Given the description of an element on the screen output the (x, y) to click on. 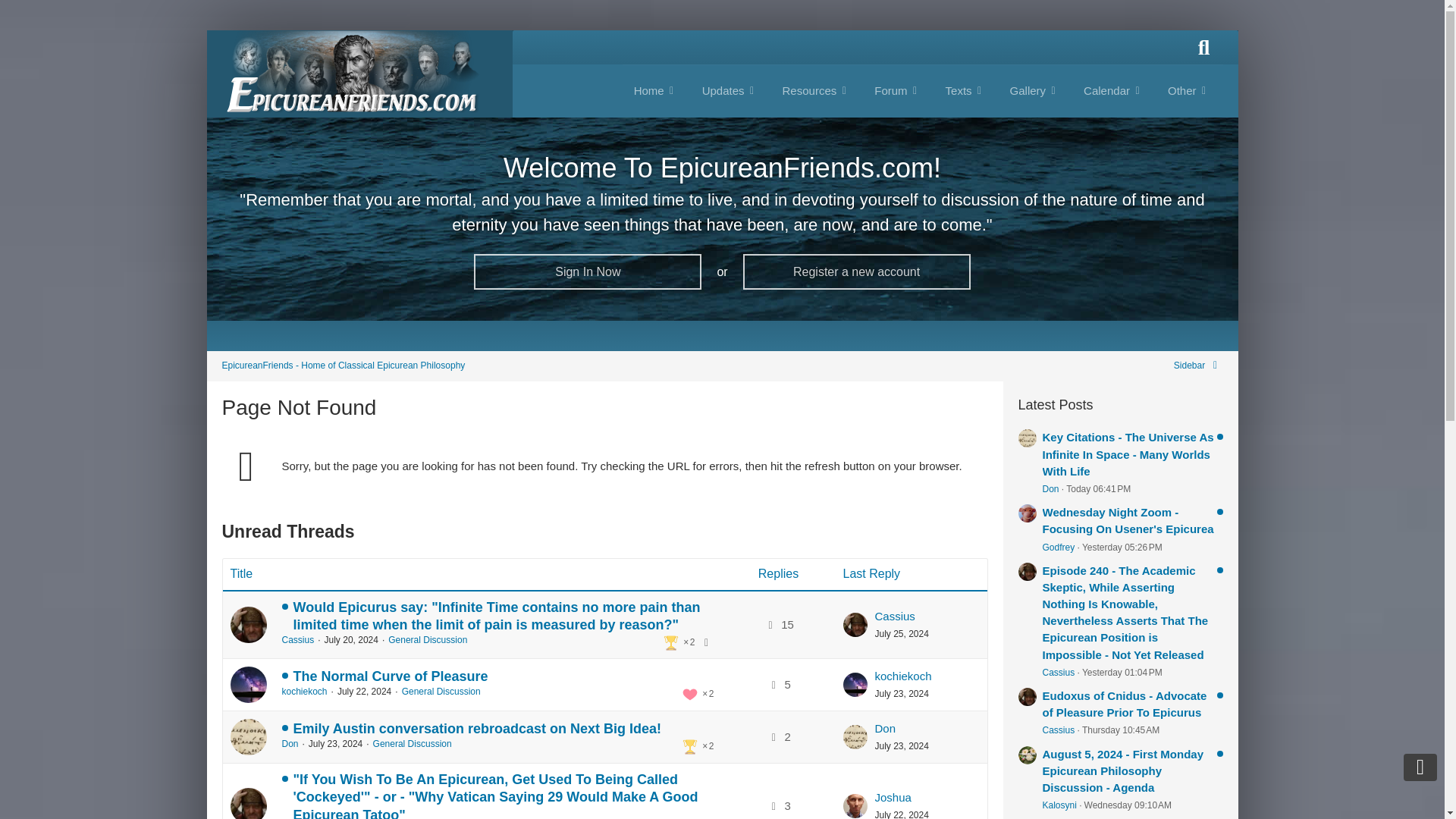
Double-Click to Mark This Thread Read (248, 737)
EpicureanFriends - Home of Classical Epicurean Philosophy (342, 366)
Double-Click to Mark This Thread Read (248, 684)
Double-Click to Mark This Thread Read (248, 624)
Double-Click to Mark This Thread Read (248, 803)
